Given the description of an element on the screen output the (x, y) to click on. 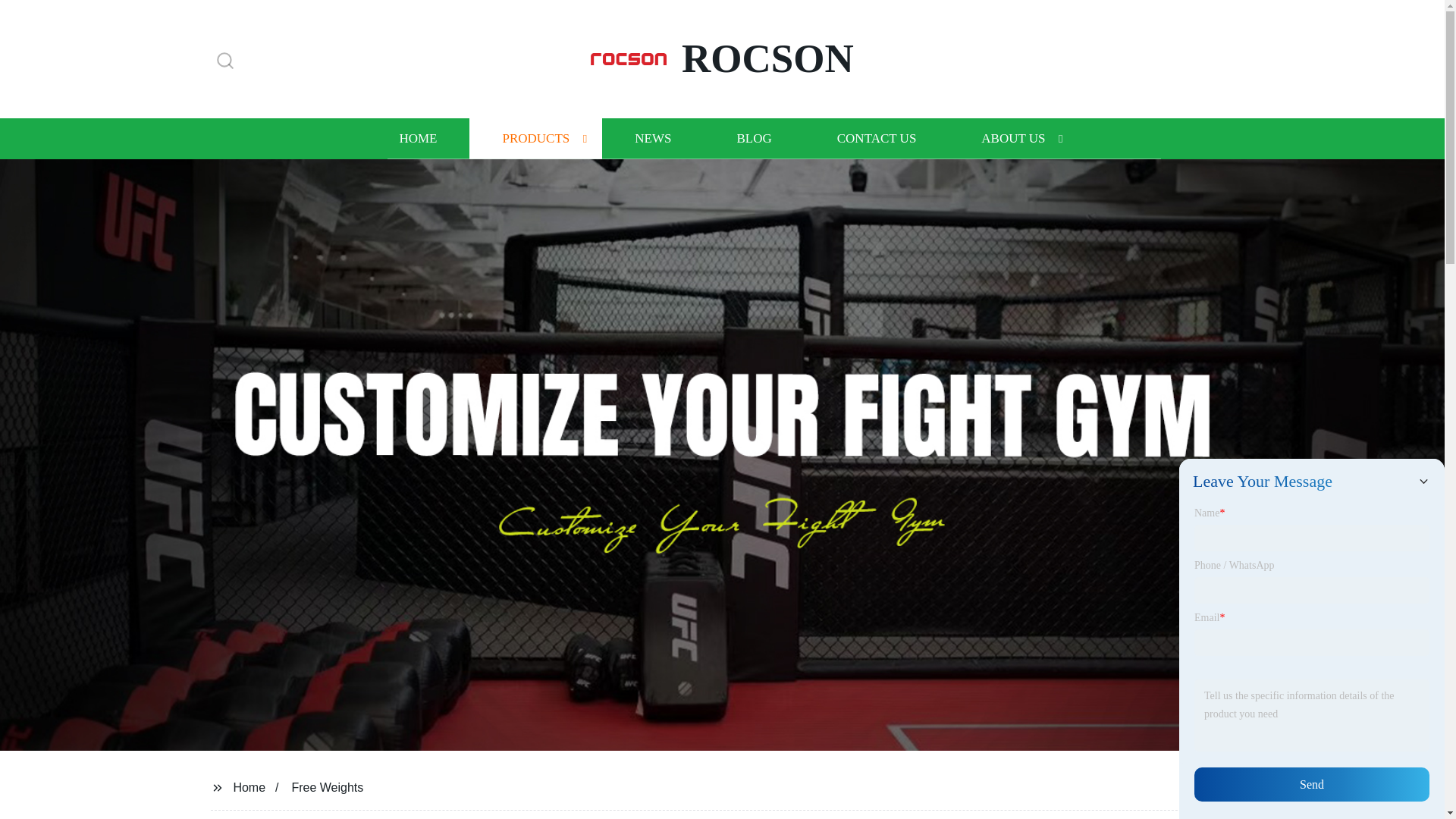
Top (1404, 779)
HOME (417, 137)
CONTACT US (877, 137)
BLOG (753, 137)
PRODUCTS (535, 137)
Free Weights (326, 787)
NEWS (652, 137)
ABOUT US (1013, 137)
Home (248, 787)
